Given the description of an element on the screen output the (x, y) to click on. 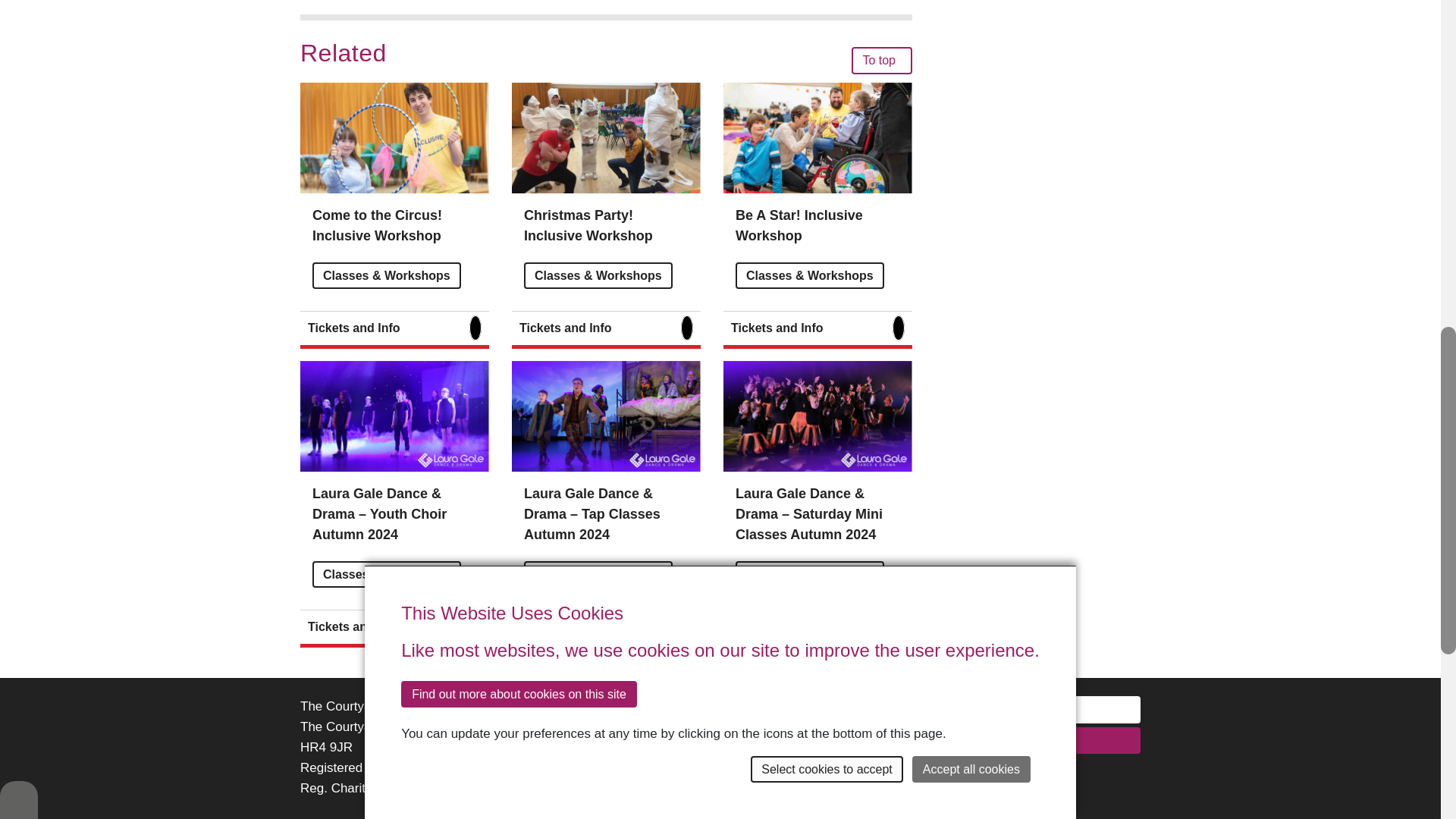
Come to the Circus! Inclusive Workshop (377, 225)
To top (881, 59)
Be A Star! Inclusive Workshop (799, 225)
Tickets and Info (606, 329)
Tickets and Info (394, 329)
Christmas Party! Inclusive Workshop (588, 225)
Tickets and Info (394, 628)
Tickets and Info (817, 329)
